Given the description of an element on the screen output the (x, y) to click on. 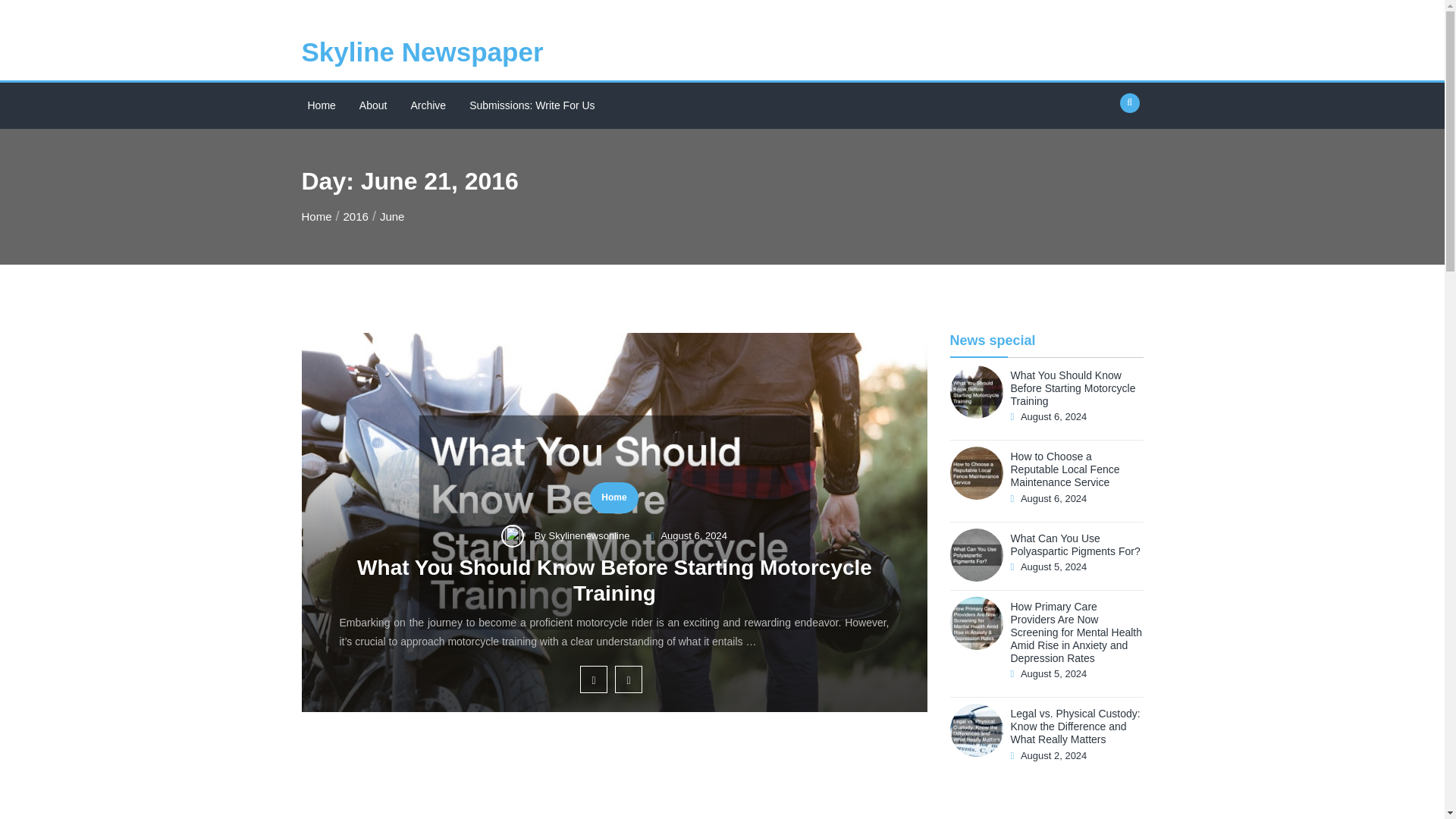
Archive (427, 105)
August 6, 2024 (693, 535)
Home (316, 215)
Home (613, 497)
Archive (427, 105)
Skyline Newspaper (422, 51)
What You Should Know Before Starting Motorcycle Training (667, 585)
June (392, 215)
2016 (355, 215)
Skylinenewsonline (590, 535)
